Given the description of an element on the screen output the (x, y) to click on. 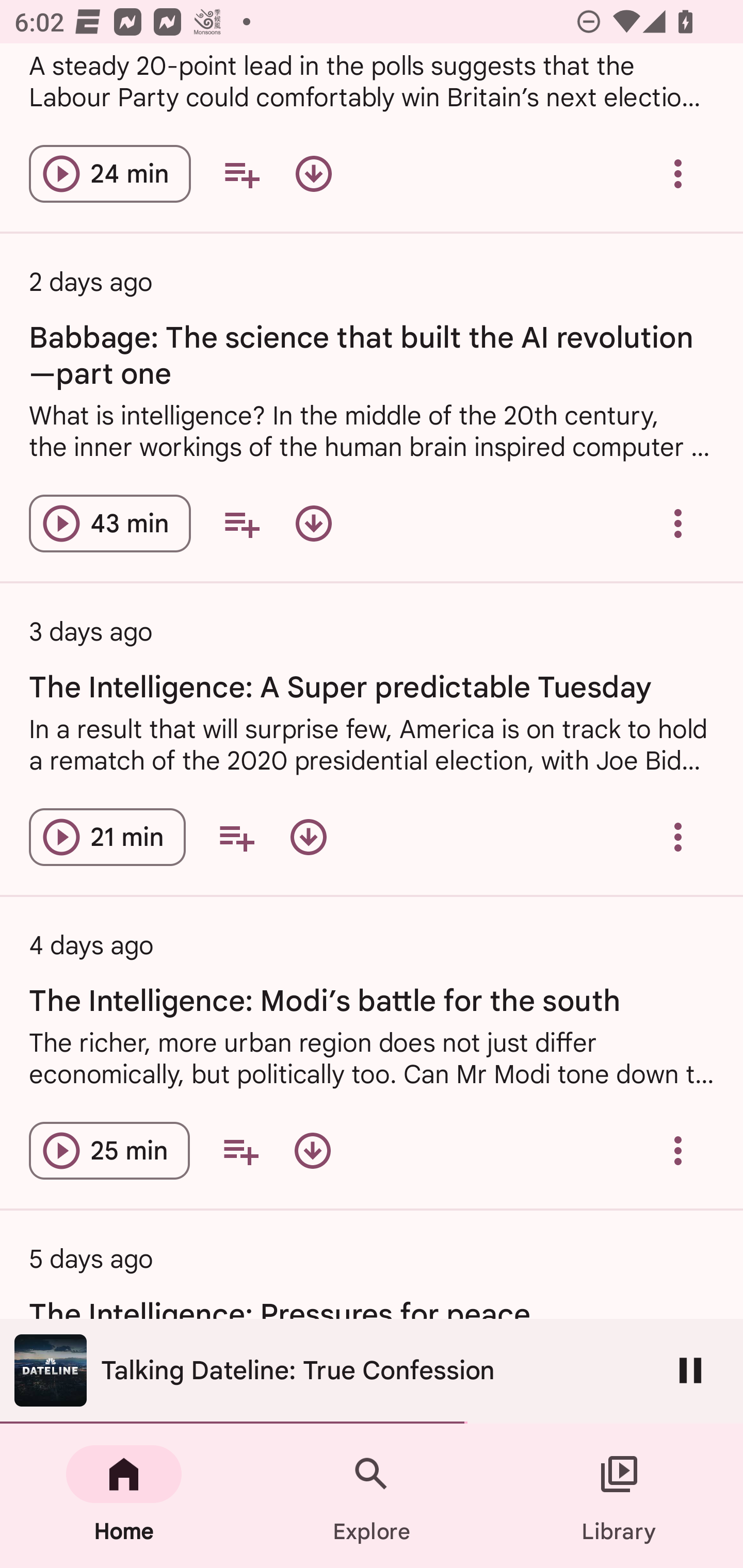
Add to your queue (241, 173)
Download episode (313, 173)
Overflow menu (677, 173)
Add to your queue (241, 523)
Download episode (313, 523)
Overflow menu (677, 523)
Add to your queue (235, 837)
Download episode (308, 837)
Overflow menu (677, 837)
Add to your queue (240, 1150)
Download episode (312, 1150)
Overflow menu (677, 1150)
Pause (690, 1370)
Explore (371, 1495)
Library (619, 1495)
